Given the description of an element on the screen output the (x, y) to click on. 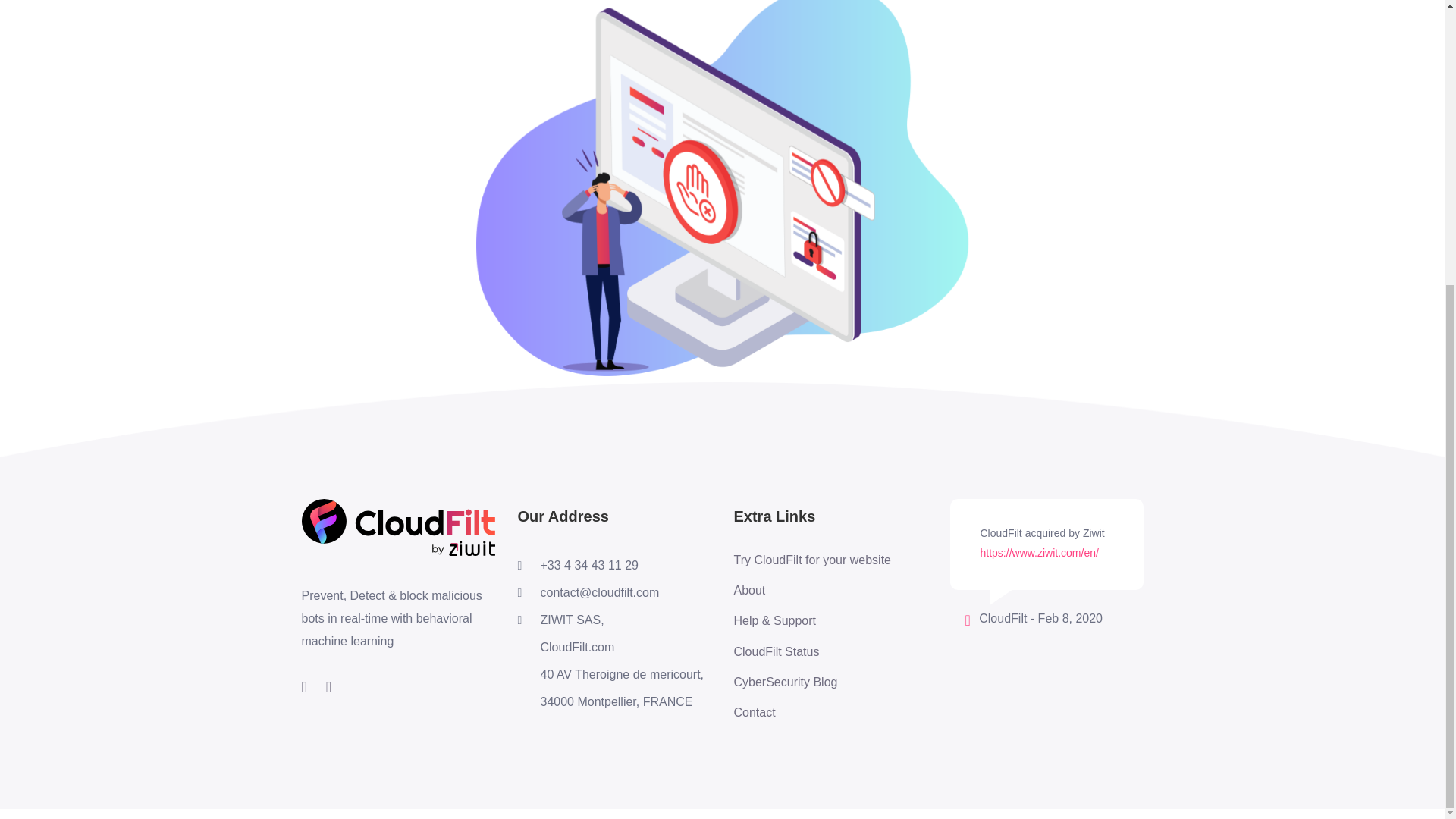
About (812, 590)
Try CloudFilt for your website (812, 559)
CloudFilt Status (812, 651)
Contact (812, 712)
CyberSecurity Blog (812, 682)
